Given the description of an element on the screen output the (x, y) to click on. 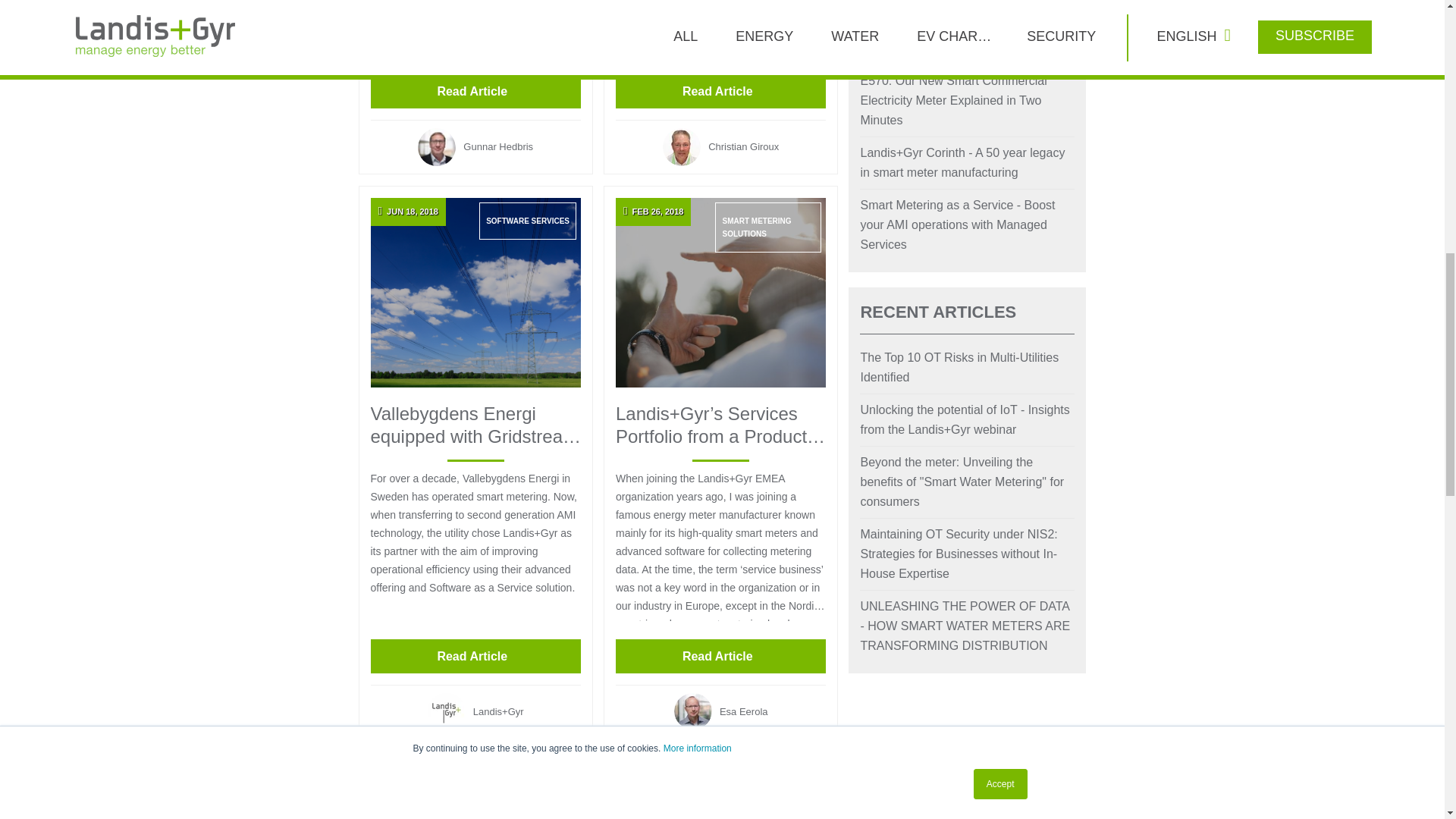
Read Article   (474, 91)
SOFTWARE SERVICES (527, 220)
Gunnar Hedbris (474, 146)
Christian Giroux (720, 146)
 JUN 18, 2018 (474, 292)
Read Article   (720, 91)
